Given the description of an element on the screen output the (x, y) to click on. 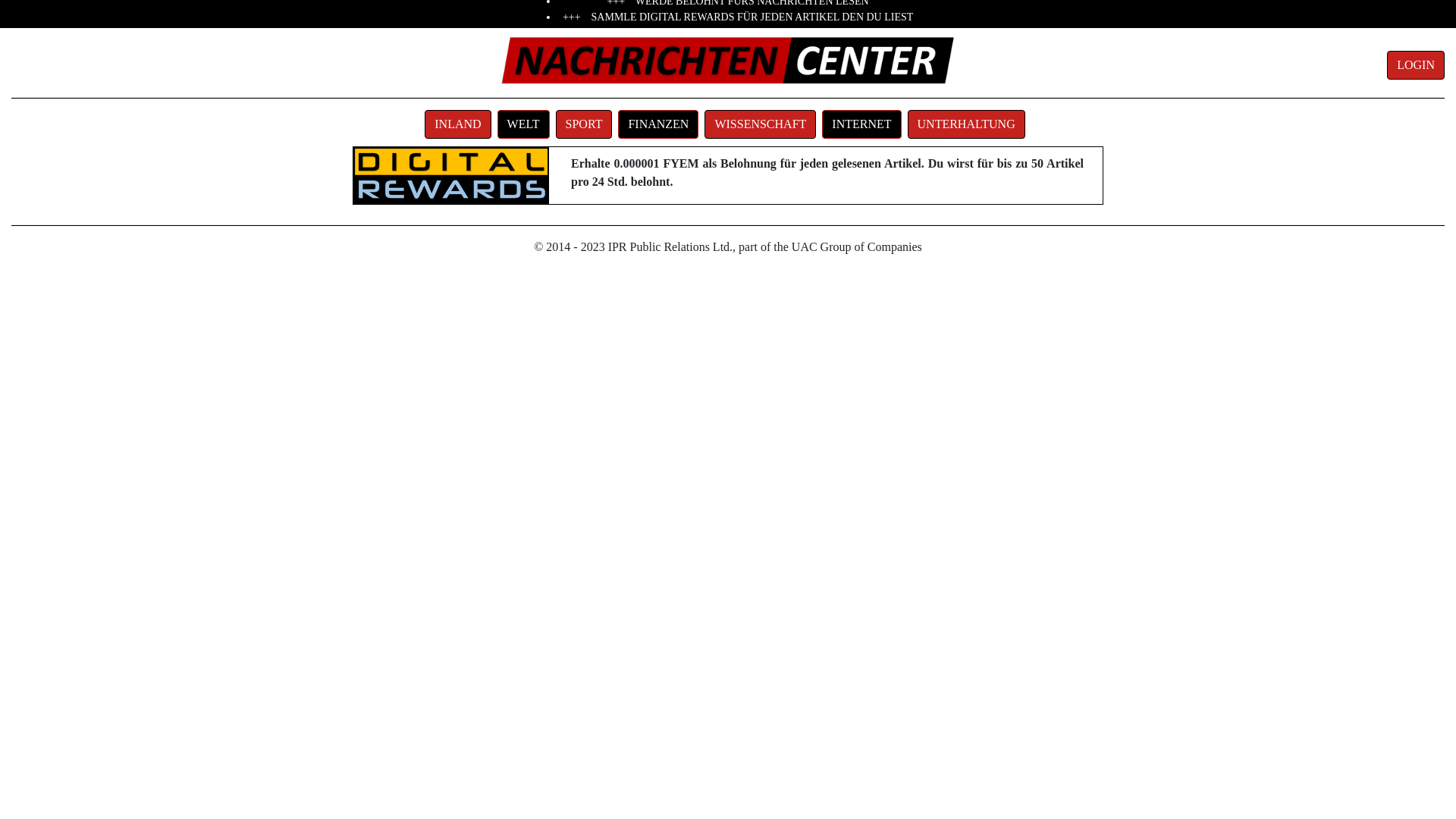
INTERNET Element type: text (864, 122)
LOGIN Element type: text (1415, 64)
WISSENSCHAFT Element type: text (759, 123)
UNTERHALTUNG Element type: text (969, 122)
FINANZEN Element type: text (658, 123)
WELT Element type: text (526, 122)
INLAND Element type: text (457, 123)
INTERNET Element type: text (861, 123)
UNTERHALTUNG Element type: text (966, 123)
FINANZEN Element type: text (661, 122)
SPORT Element type: text (586, 122)
SPORT Element type: text (583, 123)
WISSENSCHAFT Element type: text (763, 122)
INLAND Element type: text (460, 122)
WELT Element type: text (523, 123)
